Given the description of an element on the screen output the (x, y) to click on. 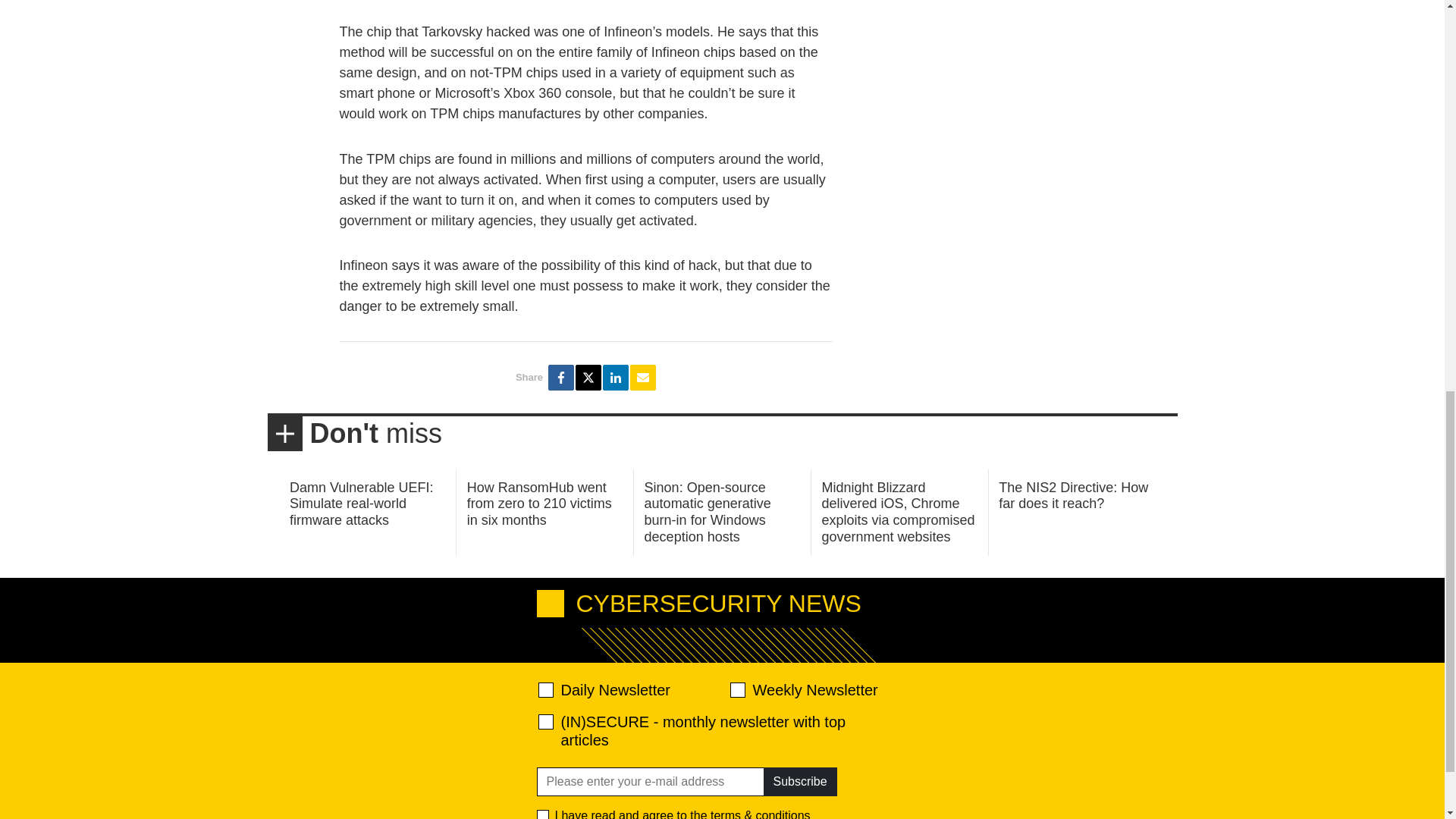
1 (542, 814)
The NIS2 Directive: How far does it reach? (1073, 495)
28abe5d9ef (545, 721)
How RansomHub went from zero to 210 victims in six months (539, 503)
d2d471aafa (736, 689)
Damn Vulnerable UEFI: Simulate real-world firmware attacks (360, 503)
